Given the description of an element on the screen output the (x, y) to click on. 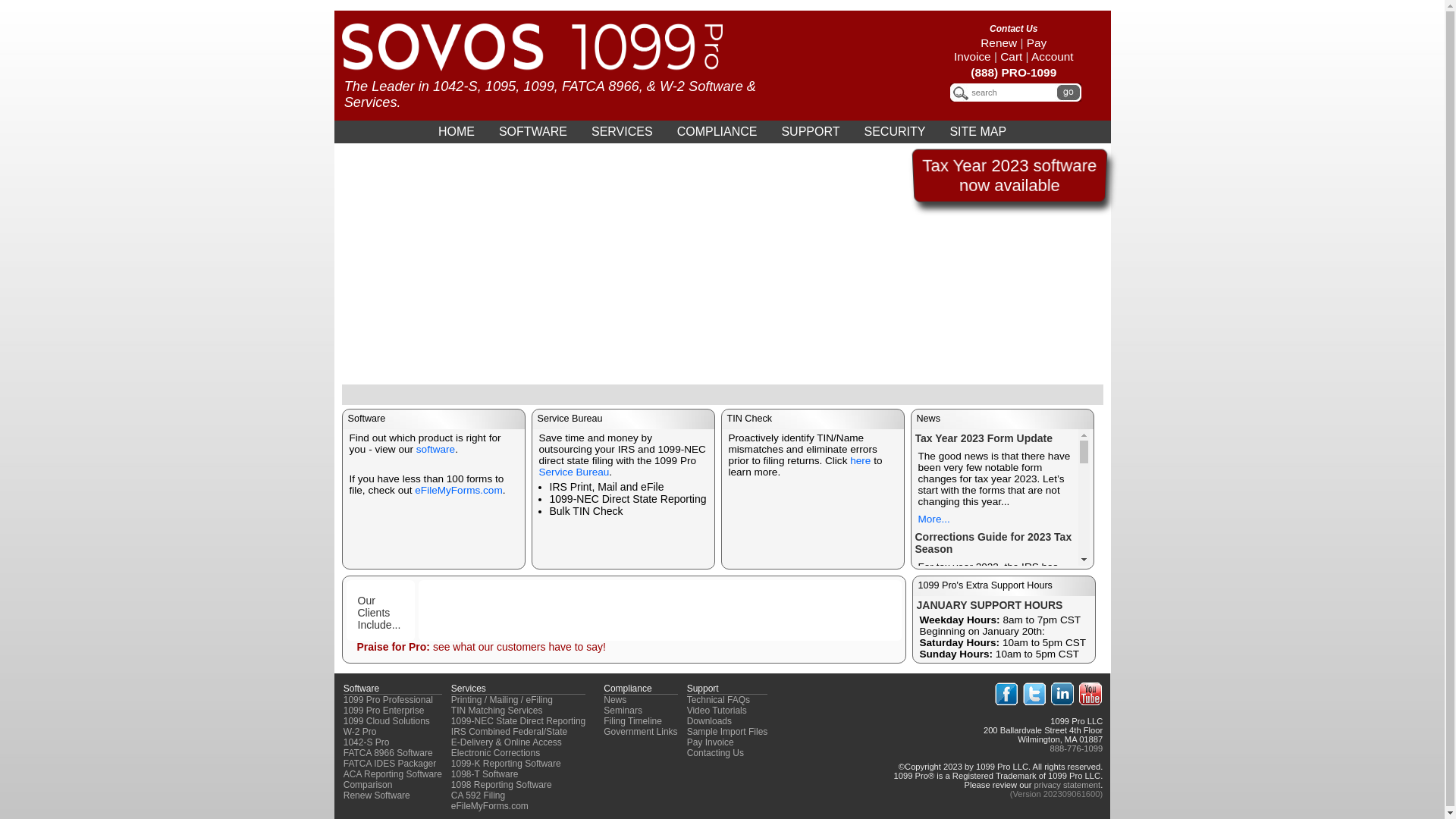
Renew Software Element type: text (376, 795)
eFileMyForms.com Element type: text (489, 805)
here Element type: text (860, 460)
FATCA IDES Packager Element type: text (389, 763)
SOFTWARE Element type: text (532, 131)
More... Element type: text (933, 740)
Pay Invoice Element type: text (999, 49)
CA 592 Filing Element type: text (478, 795)
SECURITY Element type: text (894, 131)
1099 Pro Professional Element type: text (388, 699)
Comparison Element type: text (367, 784)
More... Element type: text (933, 606)
More... Element type: text (933, 518)
COMPLIANCE Element type: text (716, 131)
(888) PRO-1099 Element type: text (1013, 71)
Video Tutorials Element type: text (716, 710)
HOME Element type: text (456, 131)
Electronic Corrections Element type: text (495, 752)
Downloads Element type: text (709, 720)
Government Links Element type: text (640, 731)
1099-K Reporting Software Element type: text (506, 763)
W-2 Pro Element type: text (359, 731)
IRS Combined Federal/State Element type: text (509, 731)
privacy statement Element type: text (1066, 784)
Tax Year 2023 software
now available Element type: text (1008, 175)
Pay Invoice Element type: text (710, 742)
1099 Cloud Solutions Element type: text (386, 720)
Contact Us Element type: text (1013, 28)
Printing / Mailing / eFiling Element type: text (501, 699)
News Element type: text (614, 699)
Seminars Element type: text (622, 710)
FATCA 8966 Software Element type: text (388, 752)
Sample Import Files Element type: text (727, 731)
SITE MAP Element type: text (977, 131)
Cart Element type: text (1011, 56)
Filing Timeline Element type: text (632, 720)
1098 Reporting Software Element type: text (501, 784)
TIN Matching Services Element type: text (496, 710)
888-776-1099 Element type: text (1076, 748)
Account Element type: text (1052, 56)
Services Element type: text (468, 688)
eFileMyForms.com Element type: text (458, 489)
Support Element type: text (702, 688)
Service Bureau Element type: text (573, 471)
Praise for Pro: see what our customers have to say! Element type: text (480, 646)
software Element type: text (435, 449)
Technical FAQs Element type: text (718, 699)
Contacting Us Element type: text (715, 752)
SUPPORT Element type: text (809, 131)
Software Element type: text (361, 688)
Compliance Element type: text (627, 688)
1099-NEC State Direct Reporting Element type: text (518, 720)
1042-S Pro Element type: text (366, 742)
1099 Pro Enterprise Element type: text (383, 710)
1098-T Software Element type: text (484, 773)
E-Delivery & Online Access Element type: text (506, 742)
ACA Reporting Software Element type: text (392, 773)
Renew Element type: text (998, 42)
SERVICES Element type: text (622, 131)
